Given the description of an element on the screen output the (x, y) to click on. 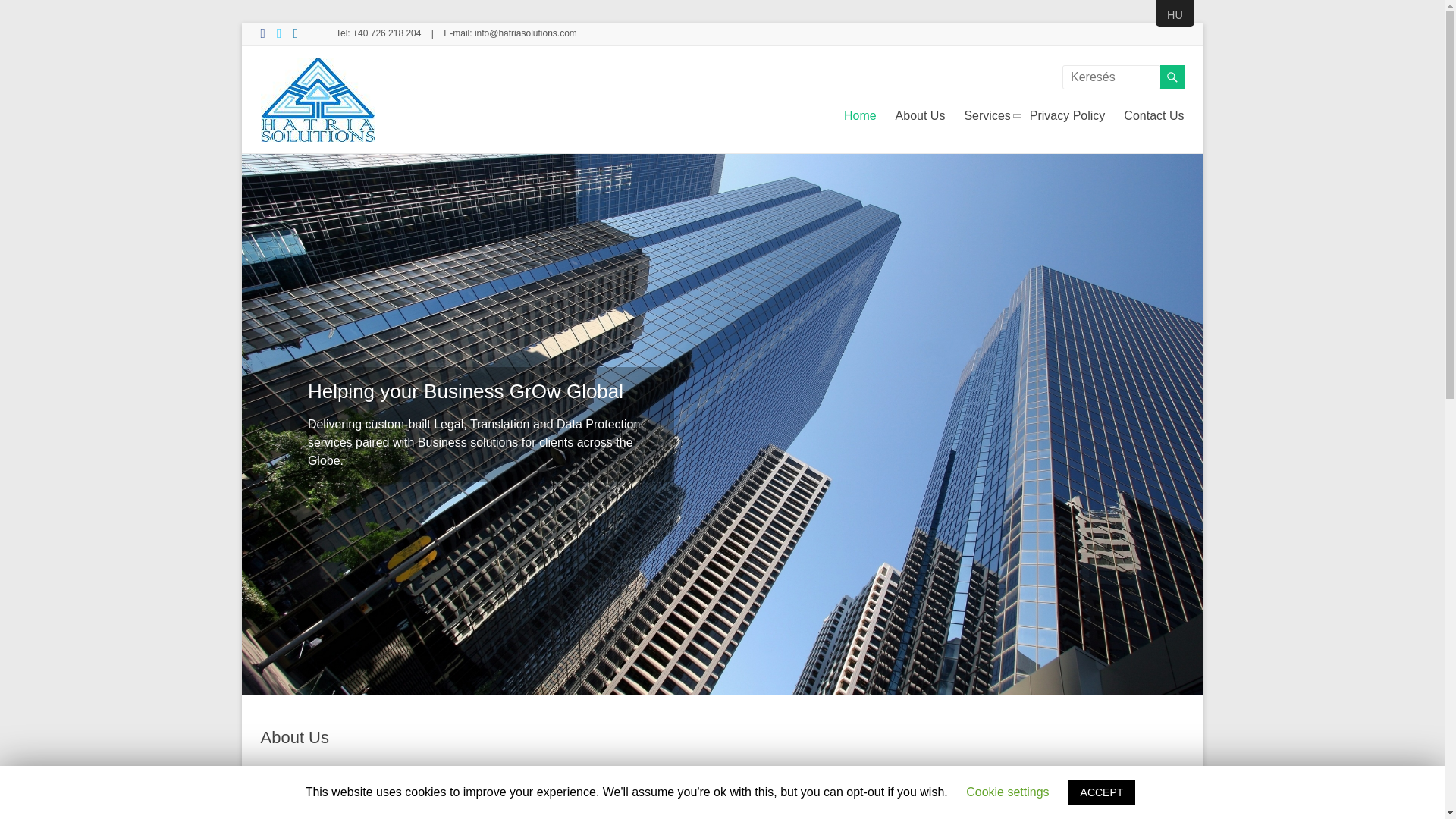
Hatria Solutions (315, 92)
About Us (295, 737)
Home (860, 115)
Helping your Business GrOw Global (465, 391)
Cookie settings (1007, 791)
Privacy Policy (1067, 115)
About Us (295, 737)
Hatria Solutions (315, 92)
Helping your Business GrOw Global (465, 391)
